Given the description of an element on the screen output the (x, y) to click on. 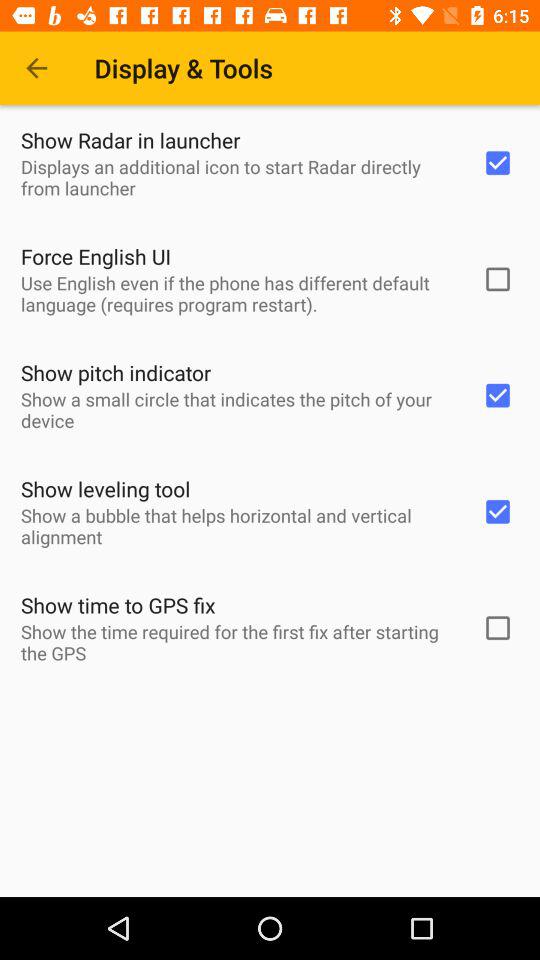
press displays an additional item (238, 177)
